Given the description of an element on the screen output the (x, y) to click on. 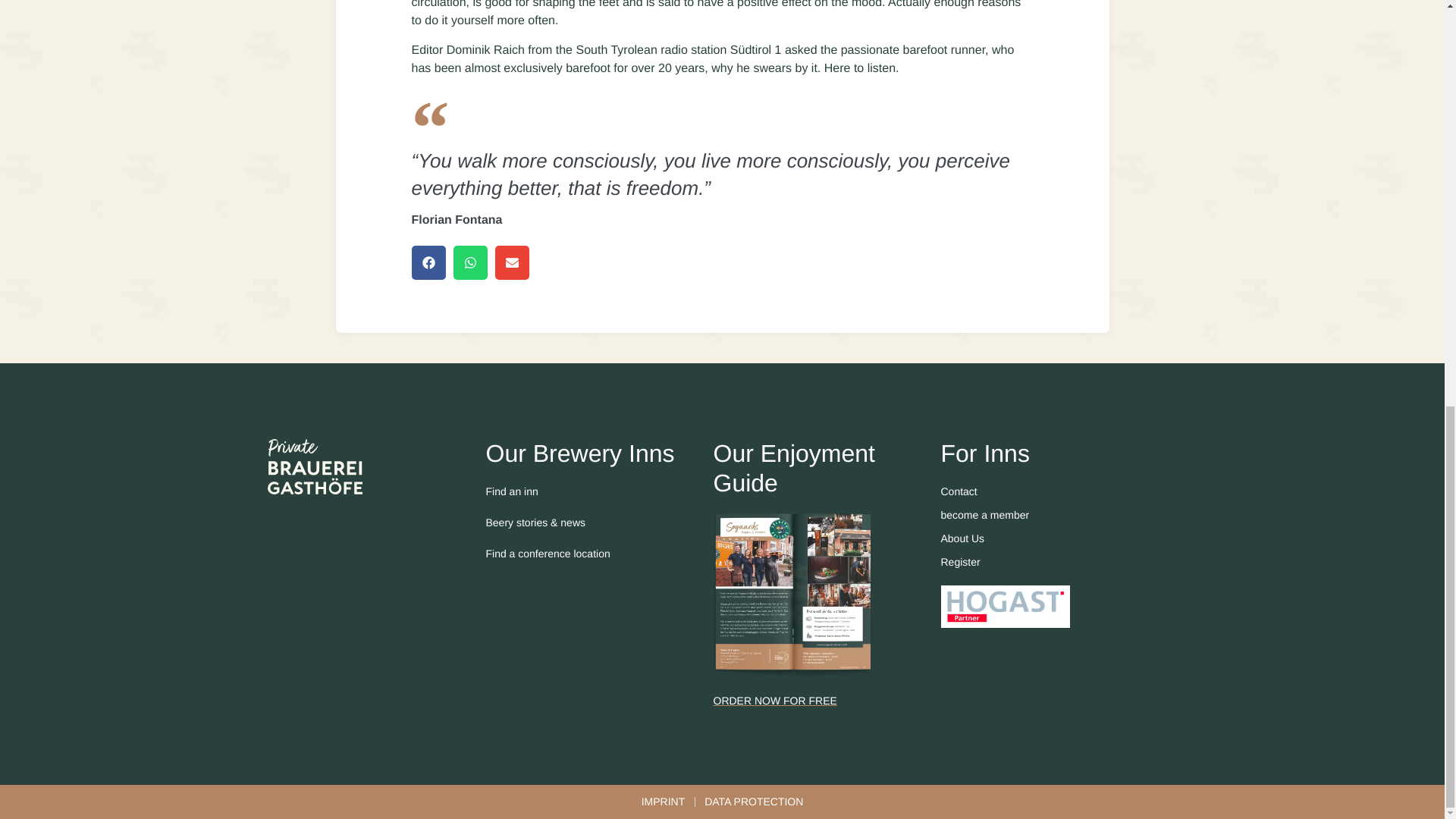
become a member (1053, 514)
About Us (1053, 538)
Find a conference location (598, 553)
ORDER NOW FOR FREE (826, 700)
Contact (1053, 491)
Find an inn (598, 491)
